Given the description of an element on the screen output the (x, y) to click on. 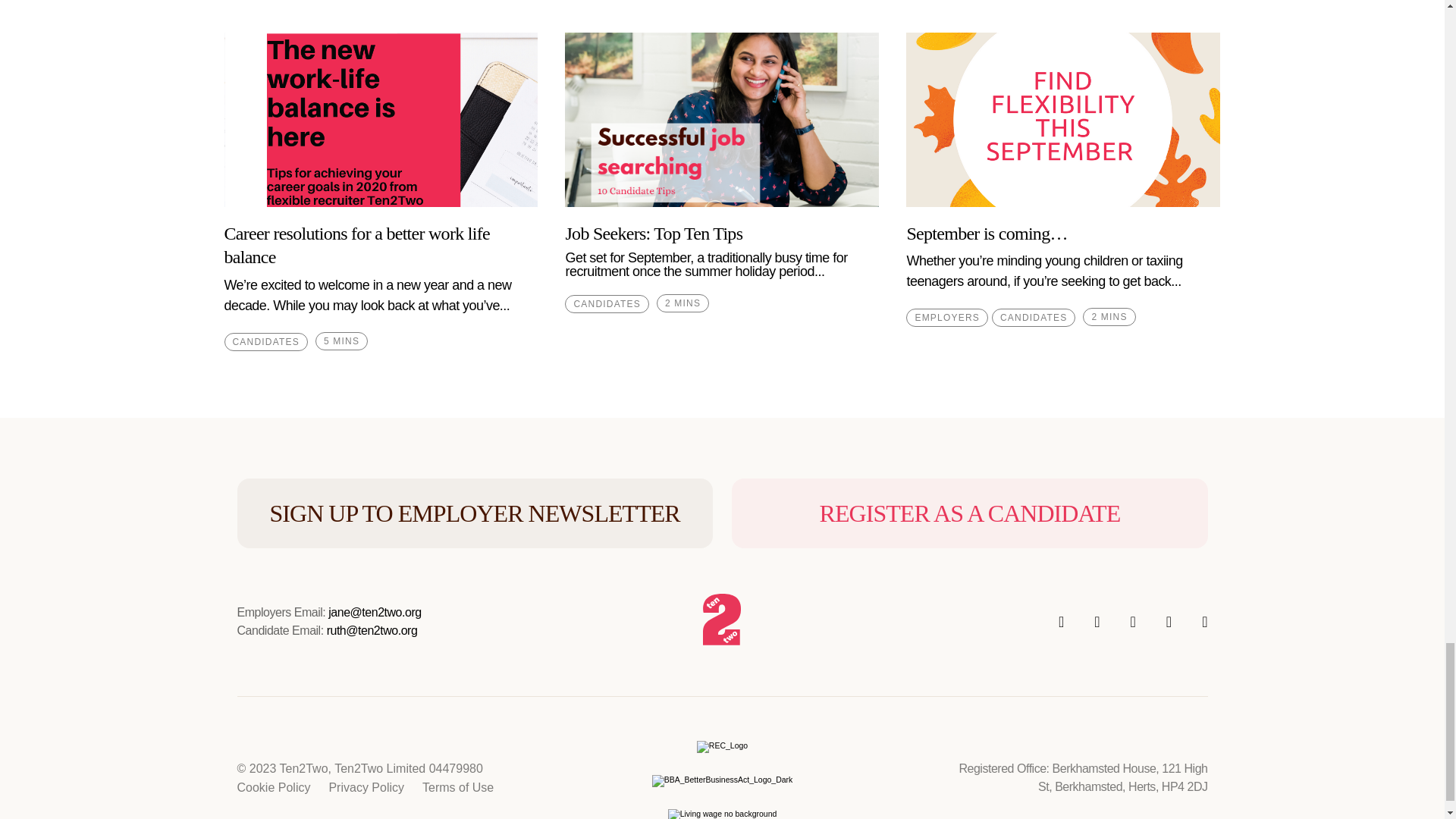
Sign Up to Employer Newsletter (473, 512)
SIGN UP TO EMPLOYER NEWSLETTER (473, 512)
CANDIDATES (265, 341)
Job Seekers: Top Ten Tips (653, 233)
Career resolutions for a better work life balance (356, 244)
CANDIDATES (605, 303)
CANDIDATES (1033, 317)
EMPLOYERS (946, 317)
Register as a Candidate (969, 512)
